Given the description of an element on the screen output the (x, y) to click on. 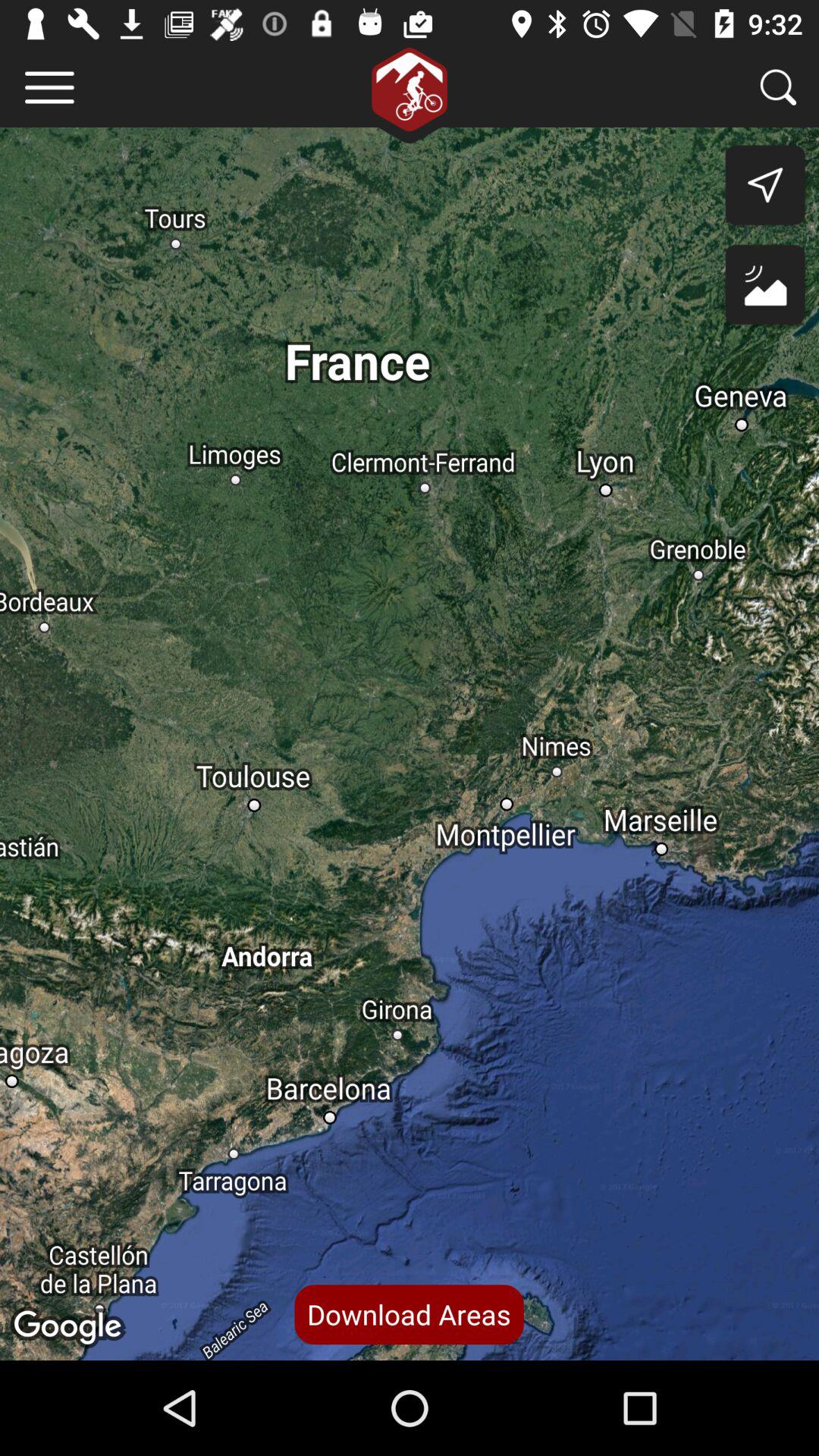
select the menu (49, 87)
